Given the description of an element on the screen output the (x, y) to click on. 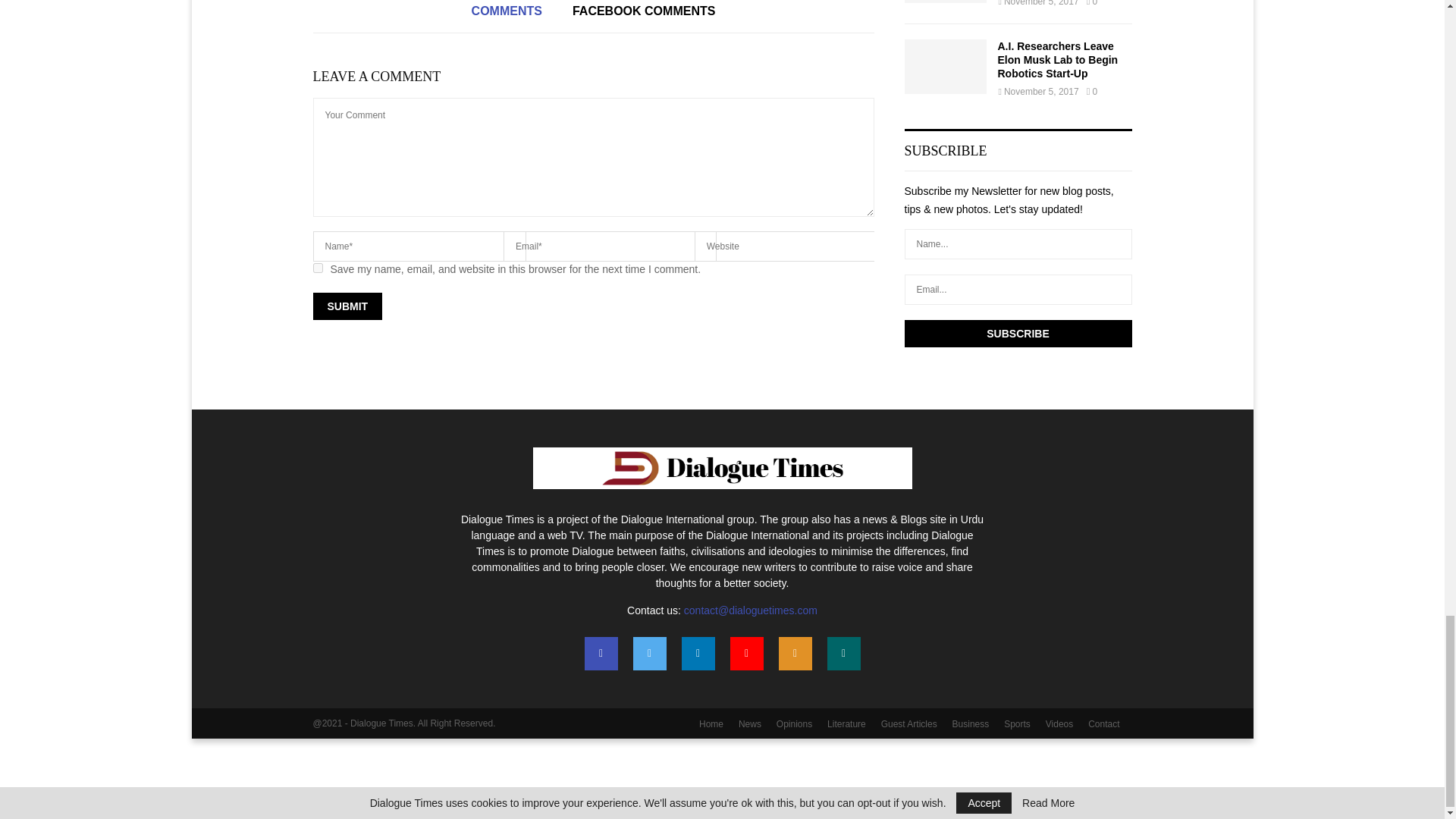
Subscribe (1017, 333)
yes (317, 267)
Submit (347, 306)
